Given the description of an element on the screen output the (x, y) to click on. 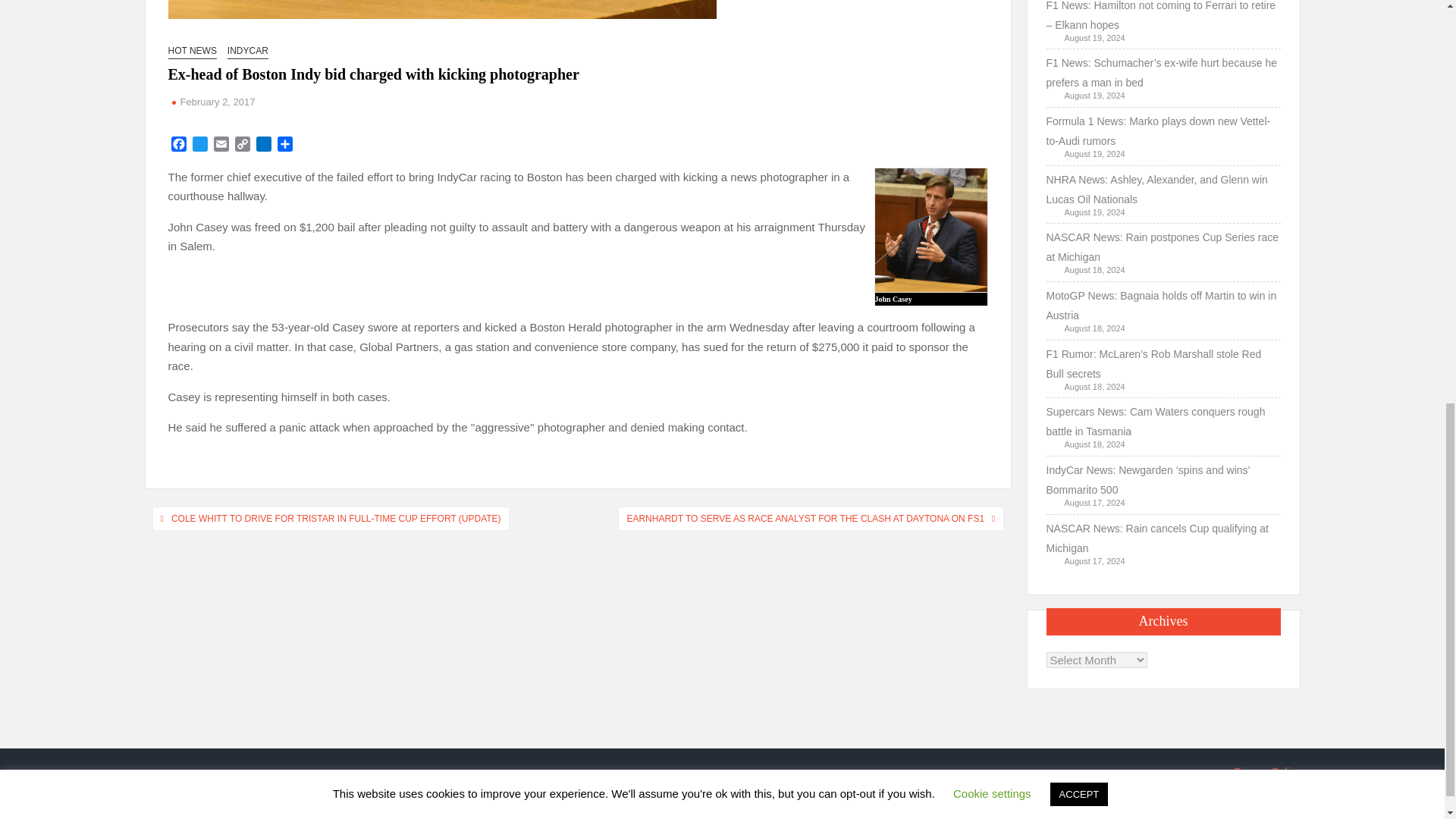
Copy Link (242, 145)
Facebook (178, 145)
Twitter (200, 145)
Outlook.com (264, 145)
Social Media Auto Publish (665, 810)
Email (221, 145)
